Given the description of an element on the screen output the (x, y) to click on. 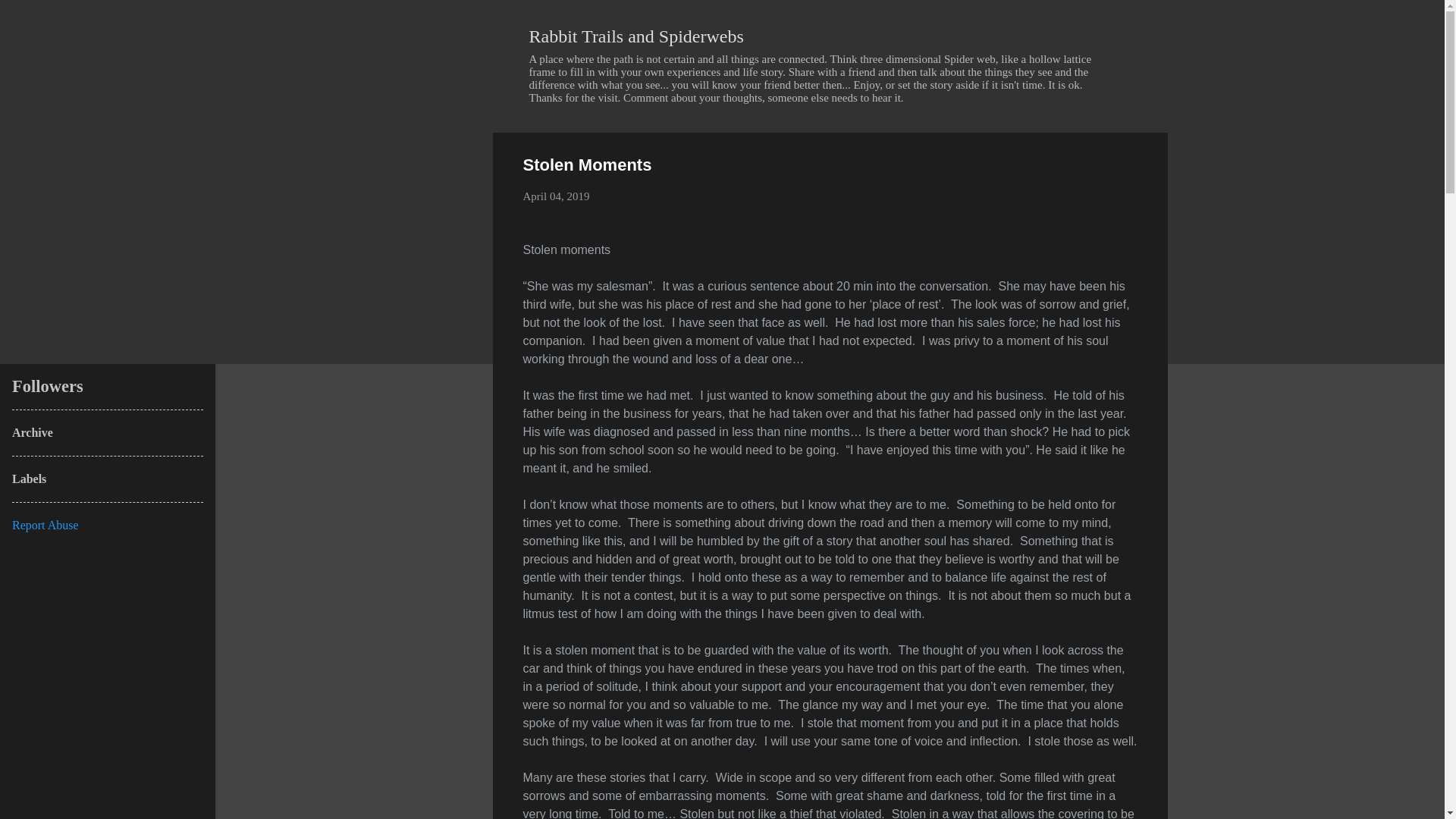
permanent link (555, 196)
Search (29, 18)
Rabbit Trails and Spiderwebs (636, 35)
April 04, 2019 (555, 196)
